Given the description of an element on the screen output the (x, y) to click on. 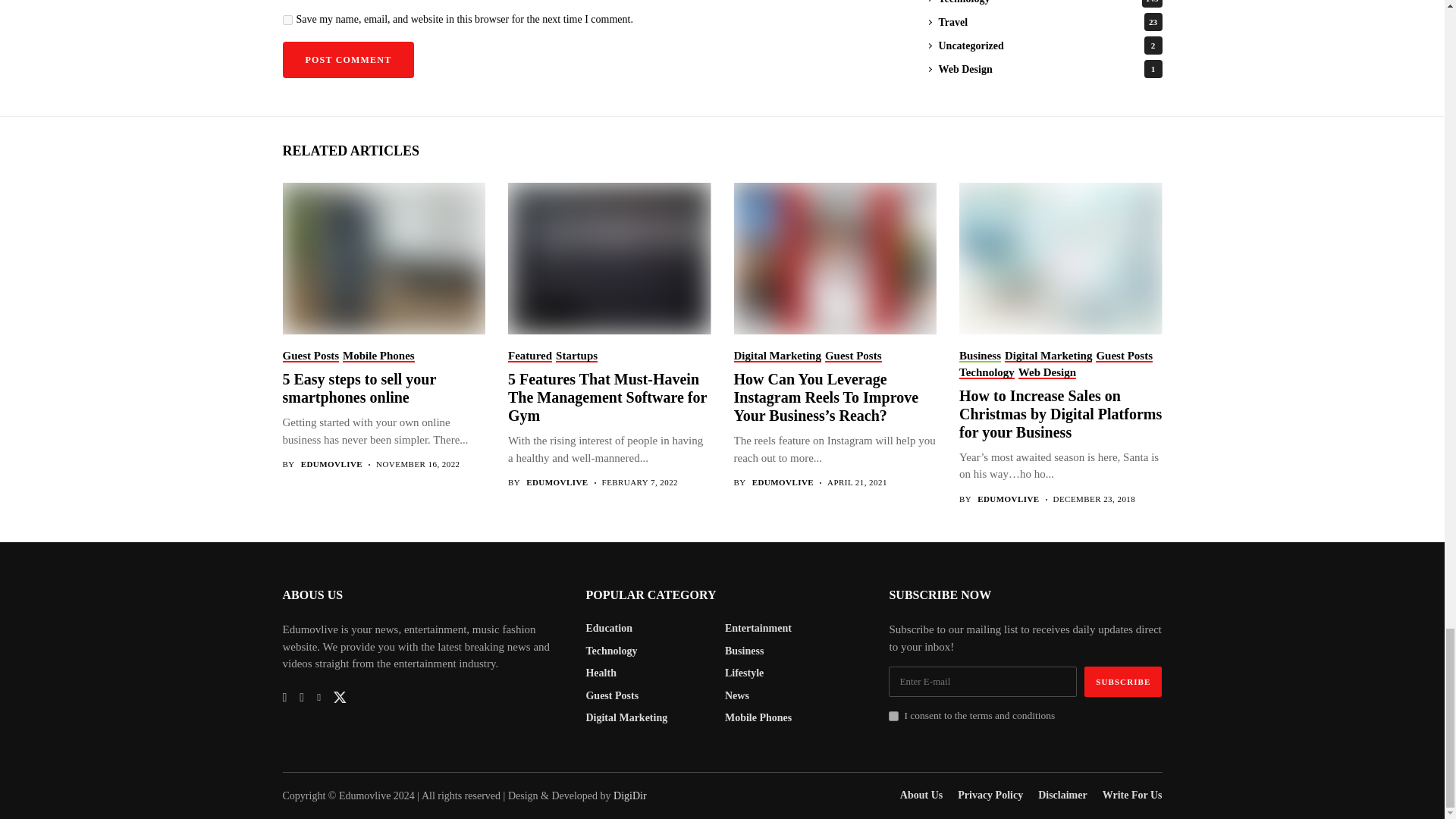
Posts by edumovlive (1007, 499)
Post Comment (347, 59)
Posts by edumovlive (782, 482)
Subscribe (1122, 681)
Posts by edumovlive (556, 482)
Posts by edumovlive (331, 464)
yes (287, 20)
1 (893, 716)
